Given the description of an element on the screen output the (x, y) to click on. 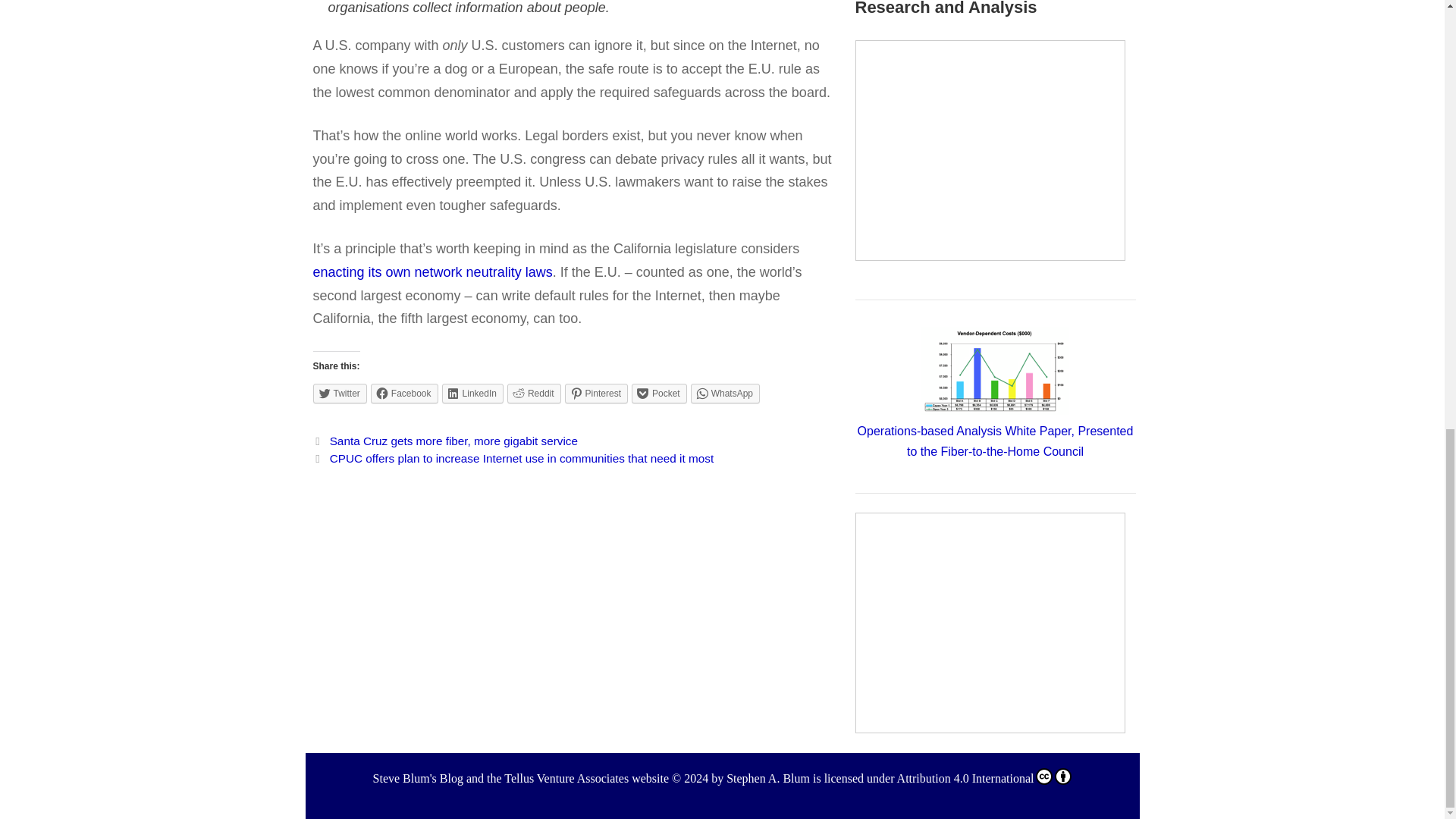
Previous (445, 440)
Click to share on Twitter (339, 393)
Click to share on WhatsApp (725, 393)
Next (513, 458)
Click to share on Pocket (659, 393)
Click to share on Pinterest (595, 393)
Click to share on Reddit (533, 393)
Click to share on Facebook (404, 393)
Click to share on LinkedIn (472, 393)
